Given the description of an element on the screen output the (x, y) to click on. 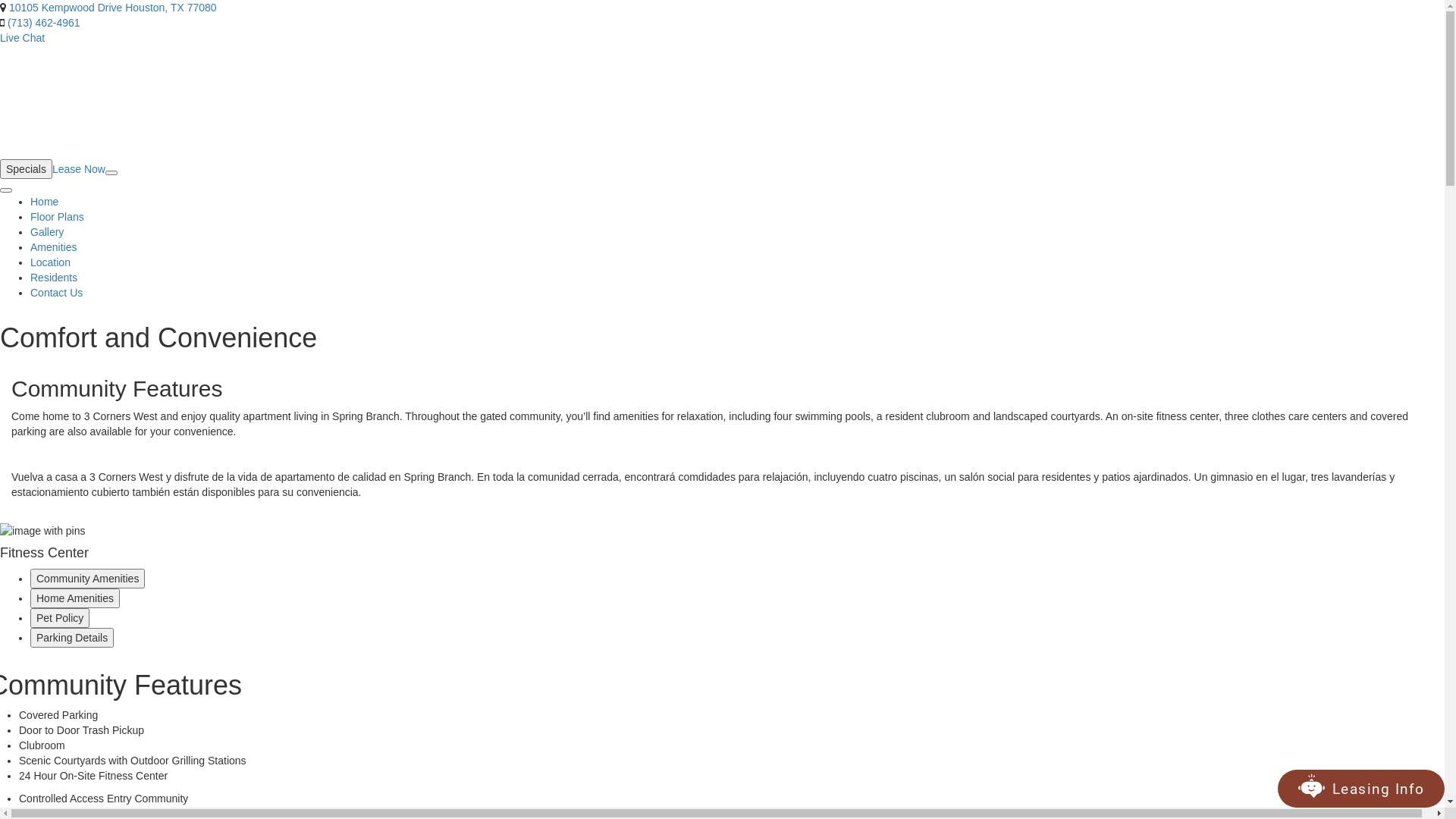
Pet Policy Element type: text (59, 617)
Parking Details Element type: text (71, 637)
(713) 462-4961 Element type: text (43, 22)
Floor Plans Element type: text (57, 216)
Lease Now Element type: text (78, 169)
Home Amenities Element type: text (74, 598)
Specials Element type: text (26, 168)
Amenities Element type: text (53, 247)
Residents Element type: text (53, 277)
Home Element type: text (44, 201)
10105 Kempwood Drive Houston, TX 77080 Element type: text (112, 7)
Location Element type: text (50, 262)
Community Amenities Element type: text (87, 578)
Live Chat Element type: text (22, 37)
Contact Us Element type: text (56, 292)
Gallery Element type: text (46, 231)
Leasing Info Element type: text (1374, 788)
3 Corners West Element type: hover (123, 102)
